Given the description of an element on the screen output the (x, y) to click on. 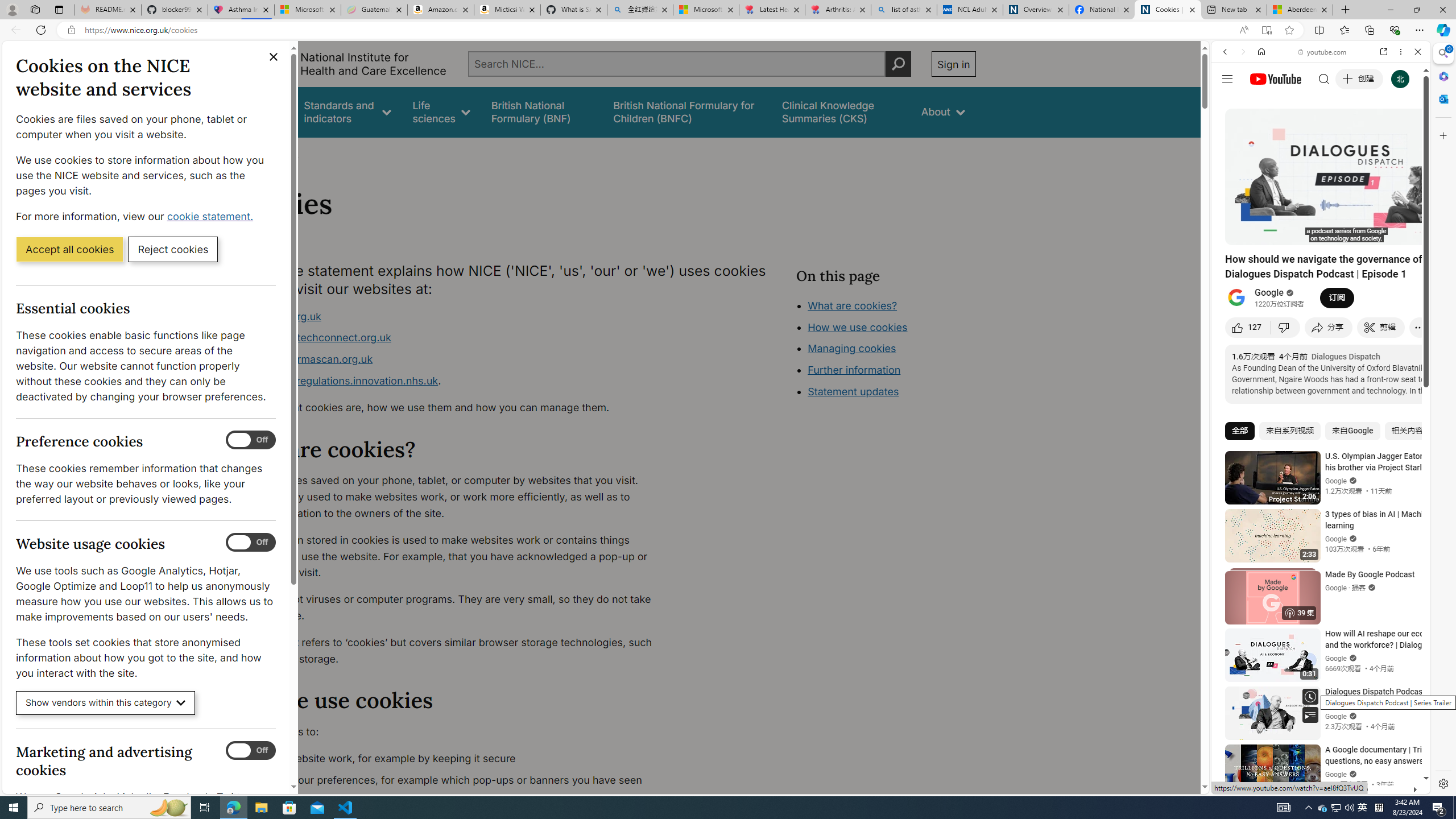
Statement updates (853, 391)
Search Filter, Search Tools (1350, 129)
Marketing and advertising cookies (250, 750)
Reject cookies (173, 248)
